Given the description of an element on the screen output the (x, y) to click on. 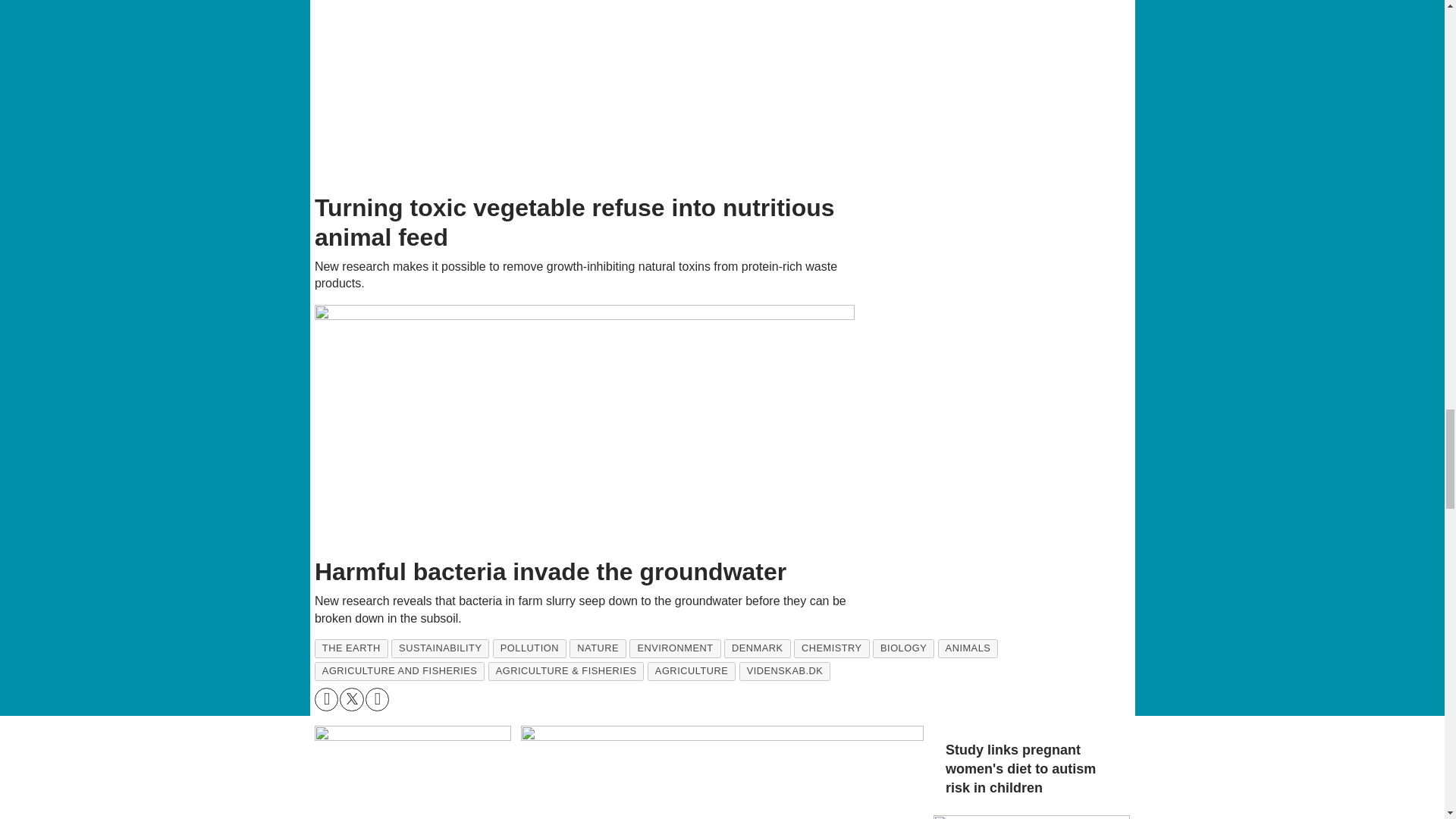
How many adolescents are truly satisfied with their lives? (722, 772)
ENVIRONMENT (674, 648)
ANIMALS (967, 648)
SUSTAINABILITY (440, 648)
Turning toxic vegetable refuse into nutritious animal feed (585, 92)
NATURE (597, 648)
BIOLOGY (903, 648)
THE EARTH (351, 648)
